Given the description of an element on the screen output the (x, y) to click on. 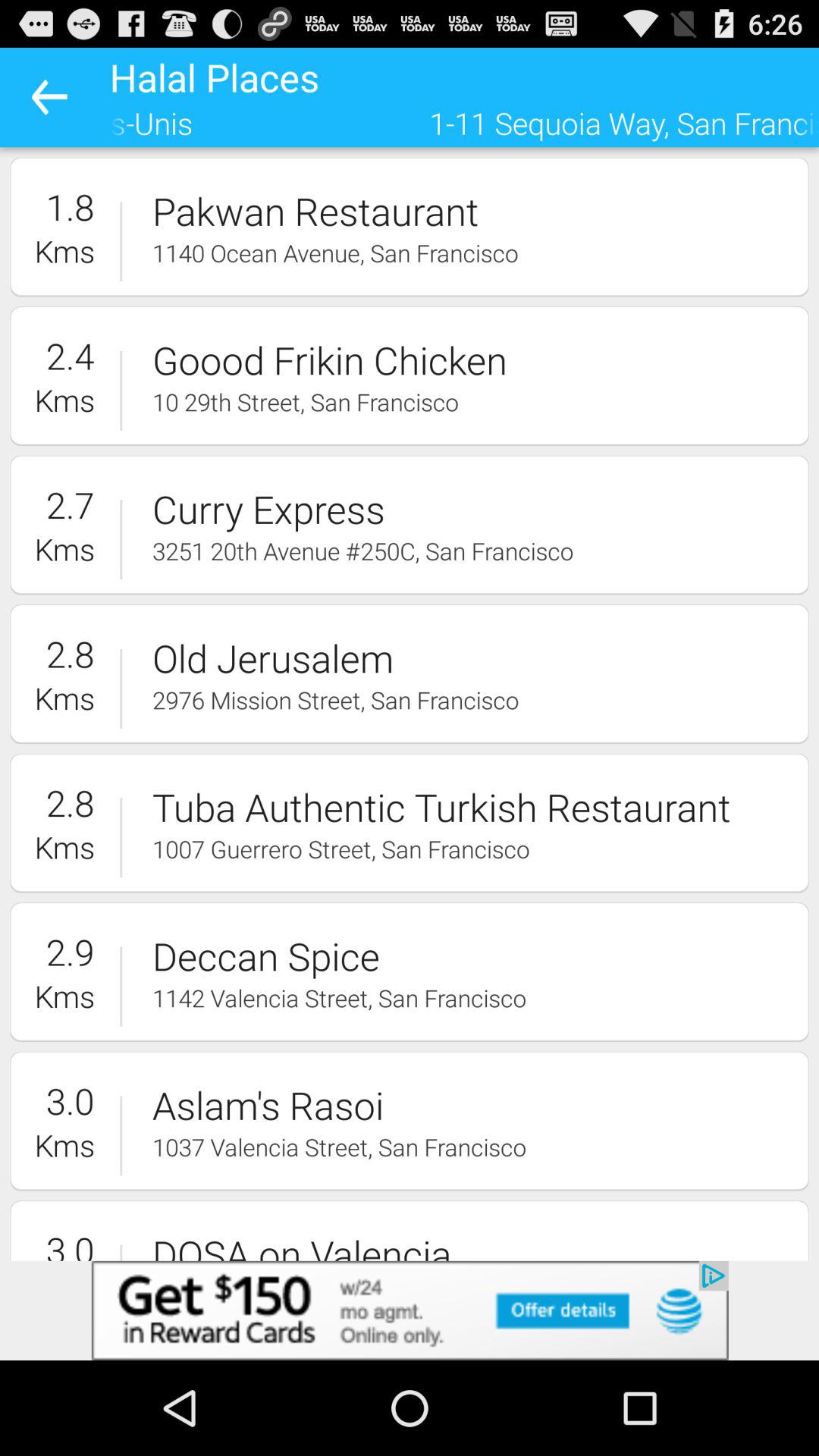
view advertisement (409, 1310)
